Given the description of an element on the screen output the (x, y) to click on. 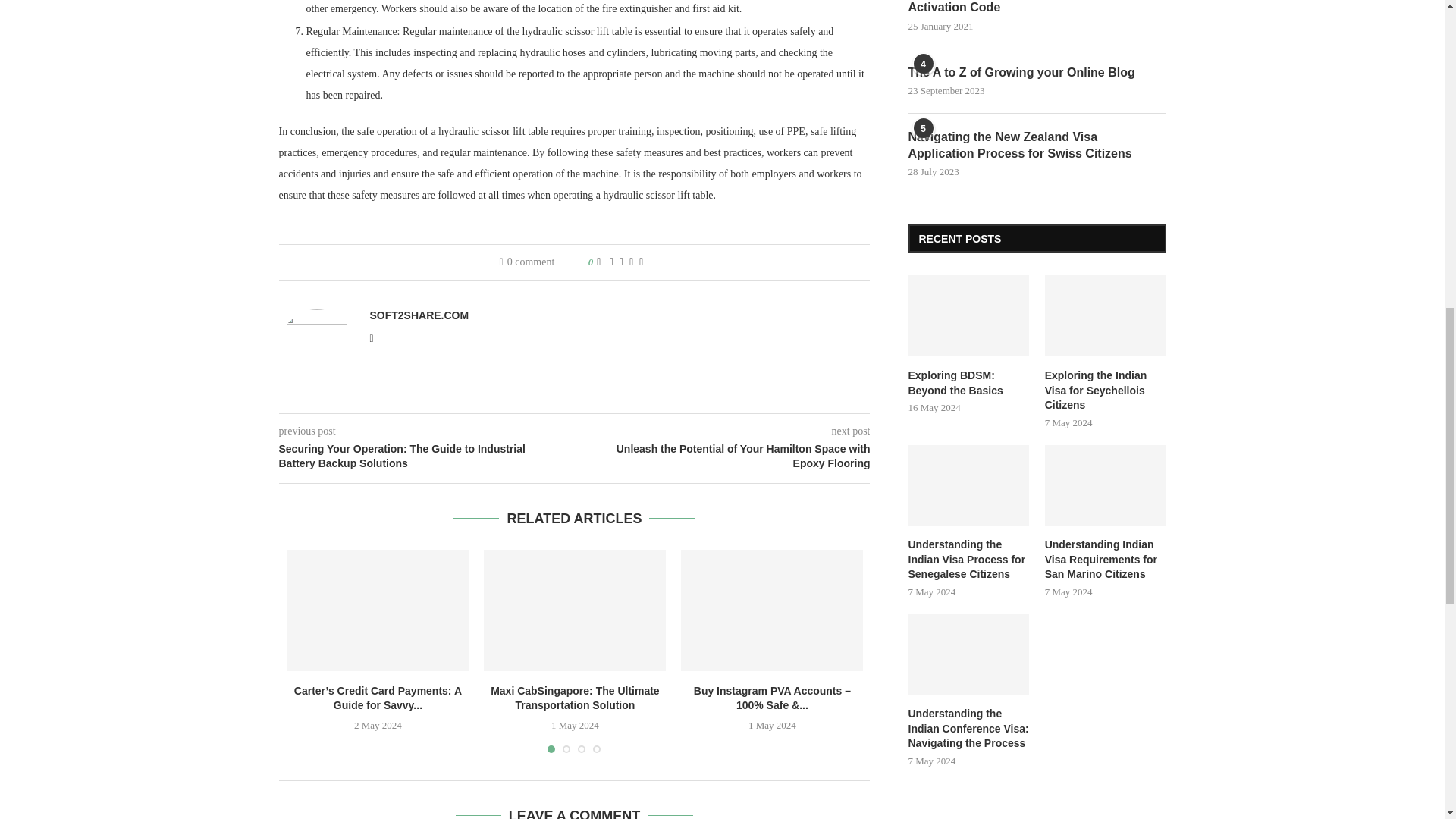
Like (597, 262)
Maxi CabSingapore: The Ultimate Transportation Solution (574, 609)
Author Soft2share.com (418, 315)
